Given the description of an element on the screen output the (x, y) to click on. 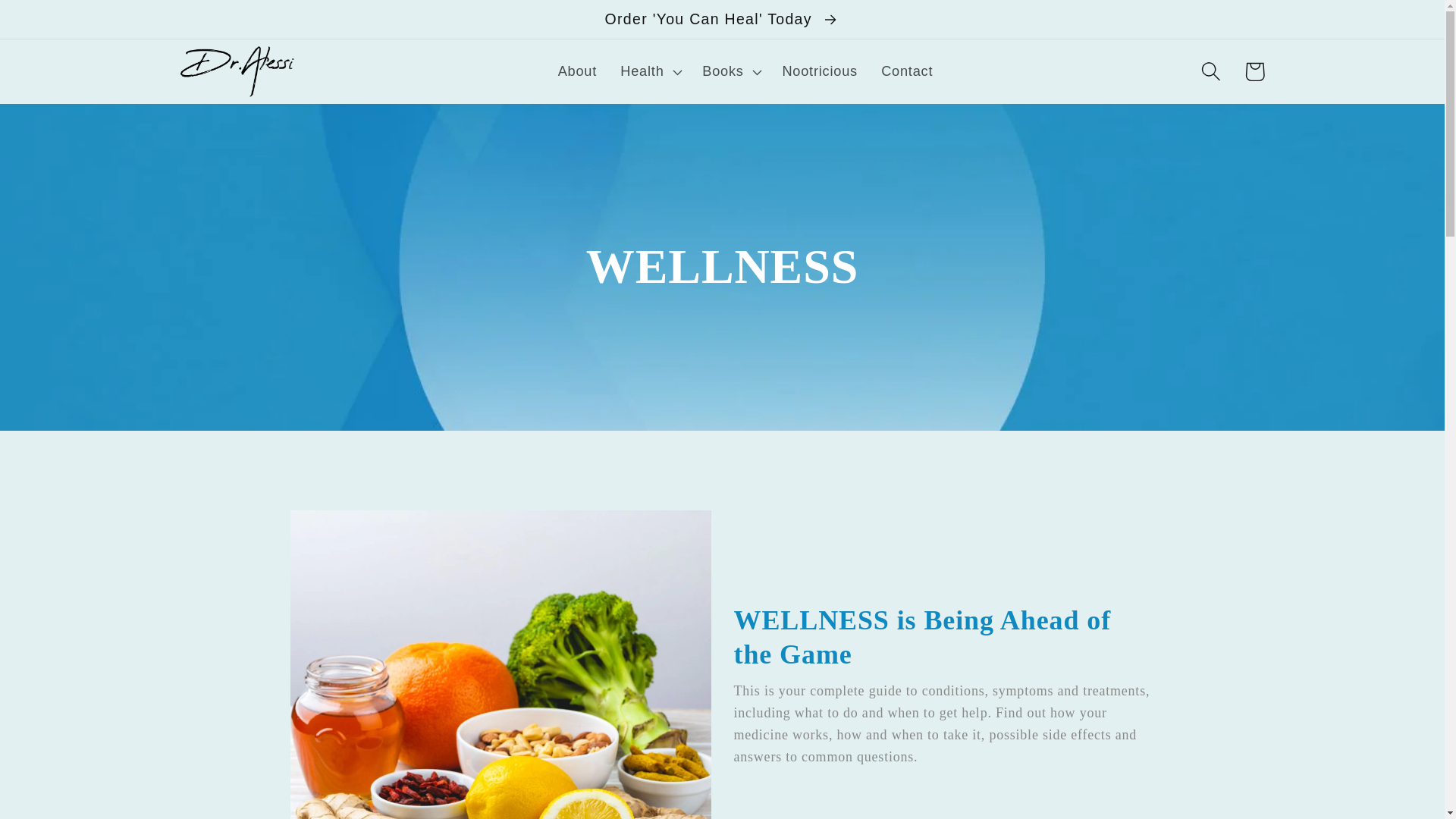
About (577, 71)
Nootricious (819, 71)
Contact (906, 71)
Skip to content (59, 22)
Cart (1254, 71)
